Given the description of an element on the screen output the (x, y) to click on. 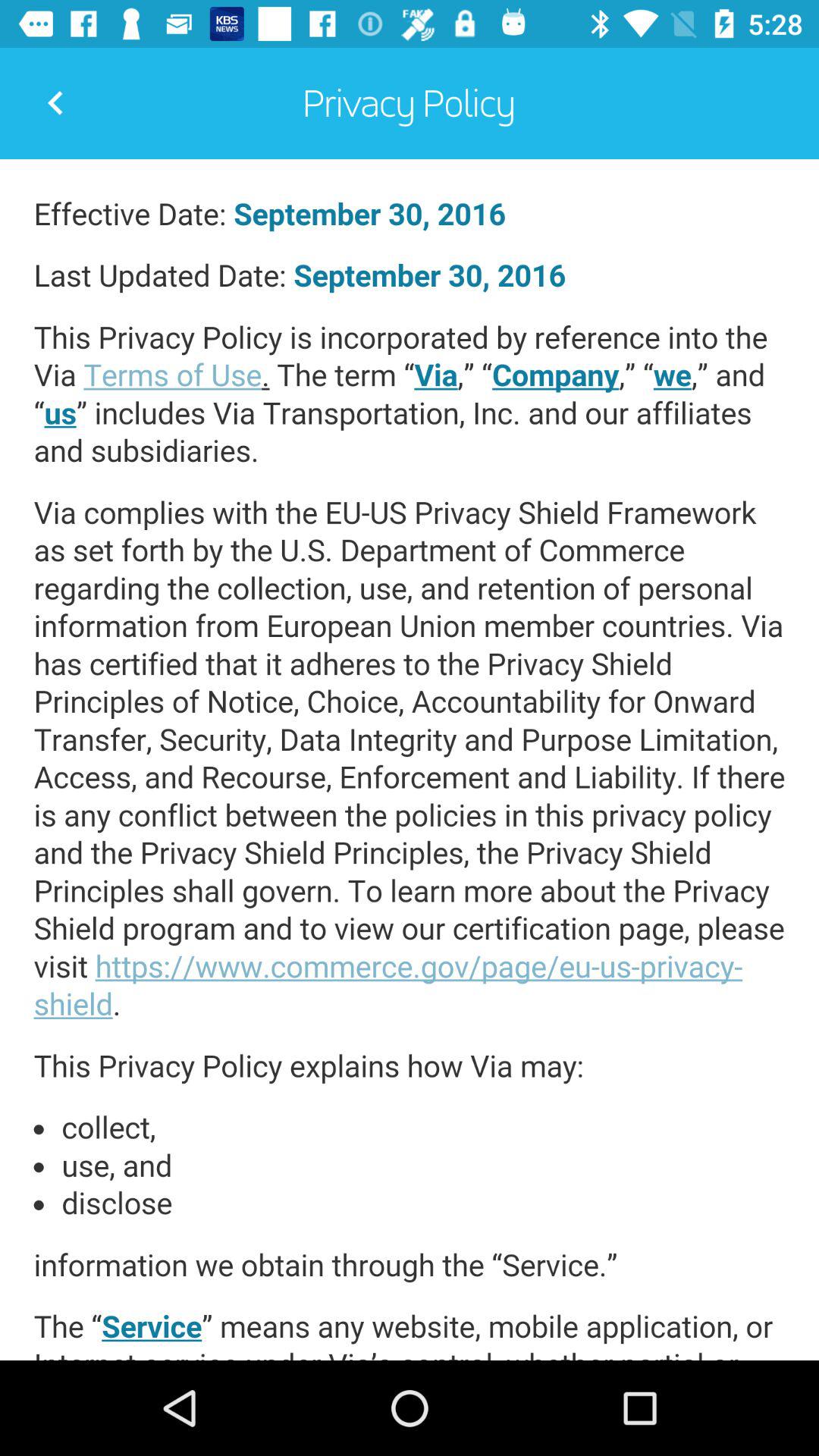
privacy policy page (409, 759)
